Given the description of an element on the screen output the (x, y) to click on. 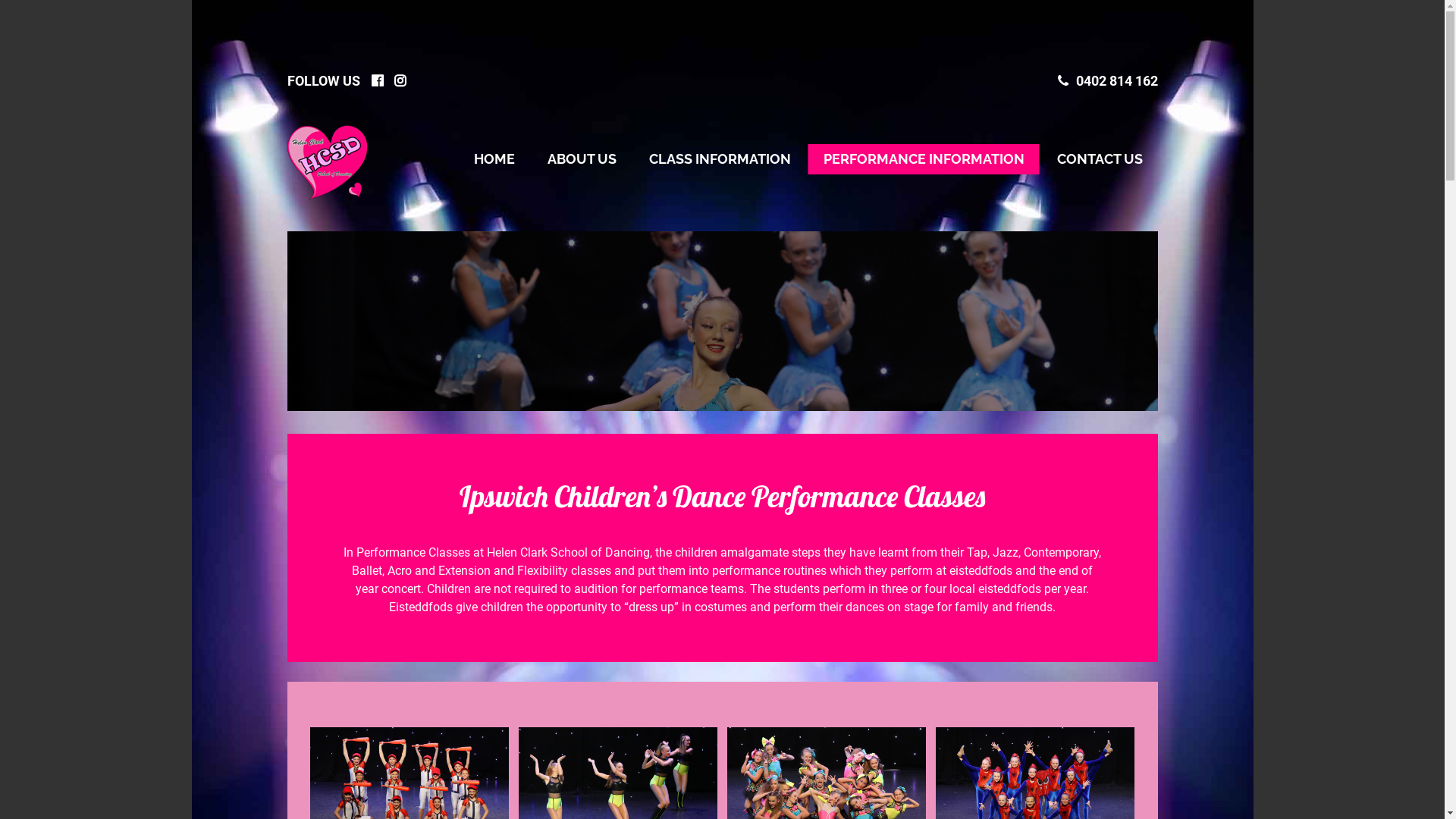
ABOUT US Element type: text (581, 159)
CLASS INFORMATION Element type: text (719, 159)
CONTACT US Element type: text (1099, 159)
PERFORMANCE INFORMATION Element type: text (923, 159)
0402 814 162 Element type: text (1107, 80)
HOME Element type: text (493, 159)
